Given the description of an element on the screen output the (x, y) to click on. 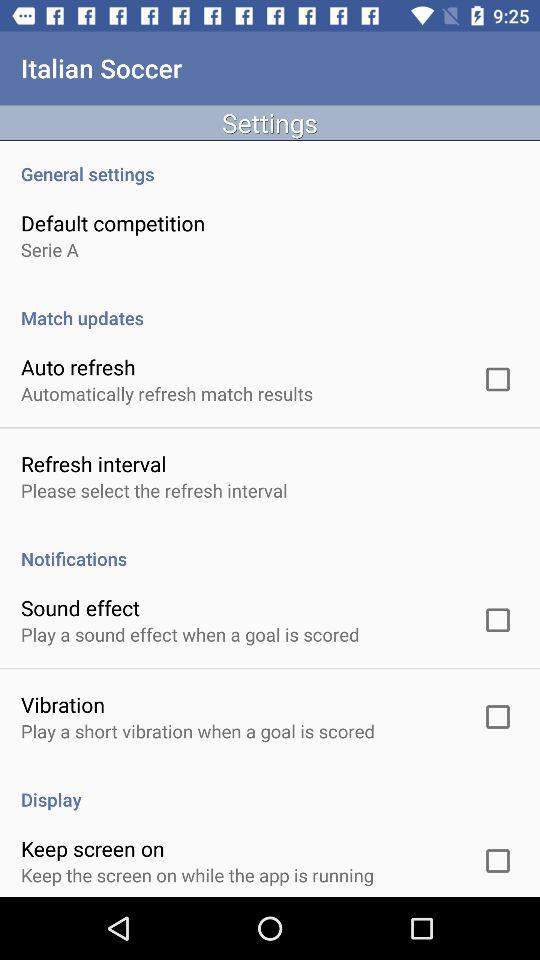
open display icon (270, 788)
